Given the description of an element on the screen output the (x, y) to click on. 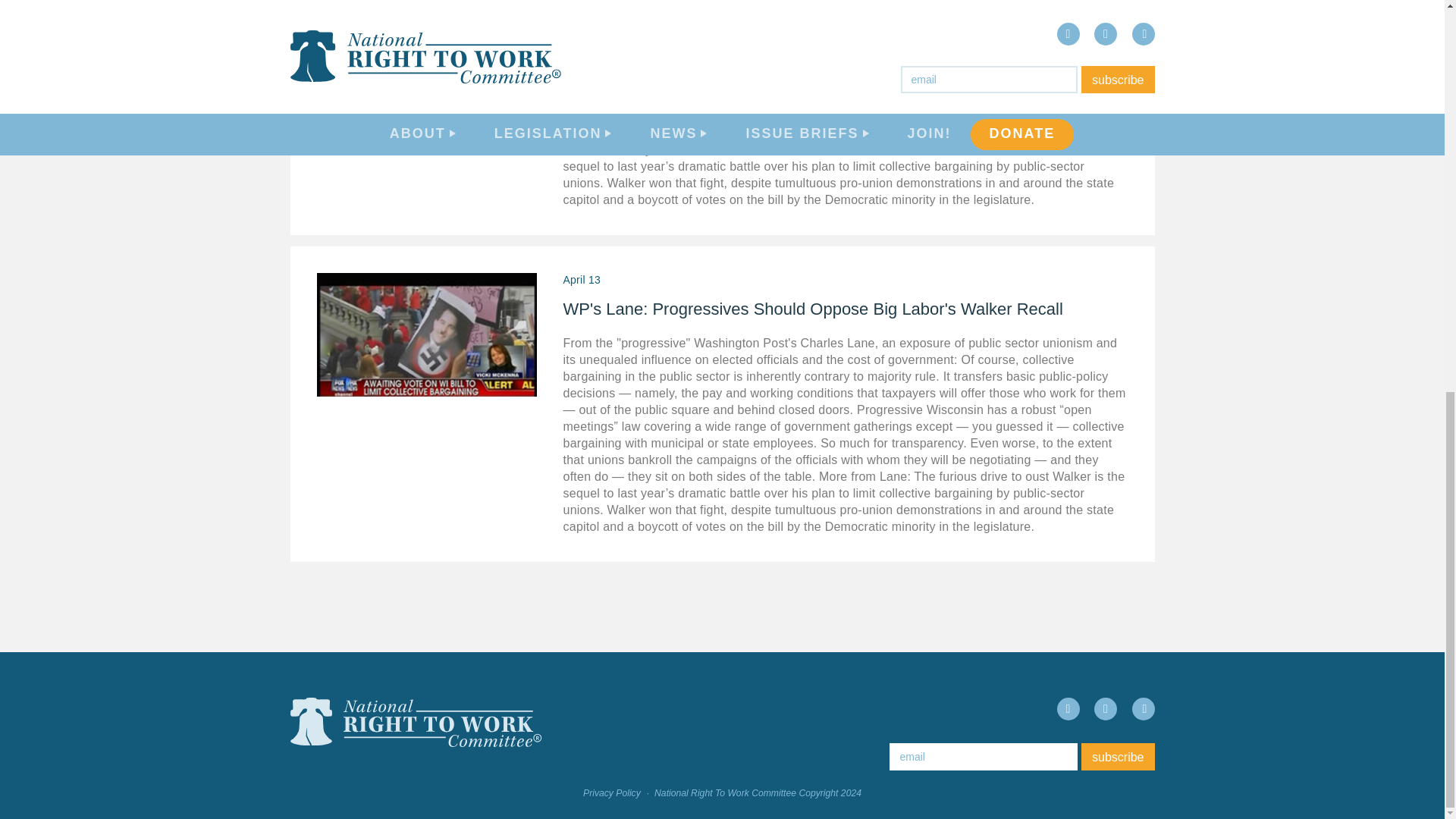
NRTWC on Twitter (1105, 708)
FREEDOM FROM UNION VIOLENCE (1316, 2)
NRTWC on YouTube (1142, 708)
NRTWC on YouTube (1311, 267)
NRTWC on Twitter (1269, 267)
NRTWC on Facebook (1228, 267)
NRTWC on Facebook (1068, 708)
